Given the description of an element on the screen output the (x, y) to click on. 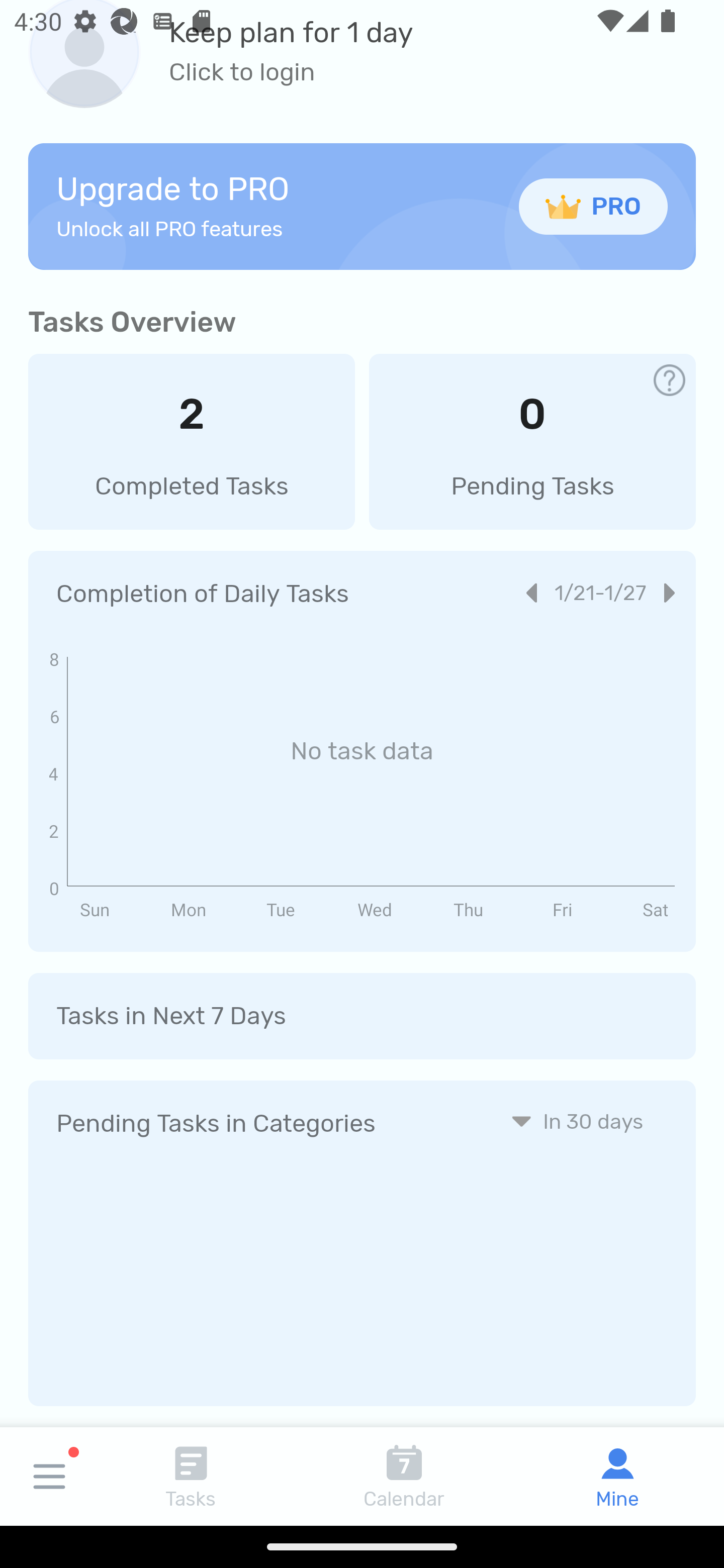
Click to login (291, 72)
Upgrade to PRO Unlock all PRO features PRO (361, 205)
In 30 days (577, 1120)
Tasks (190, 1475)
Calendar (404, 1475)
Mine (617, 1475)
